Given the description of an element on the screen output the (x, y) to click on. 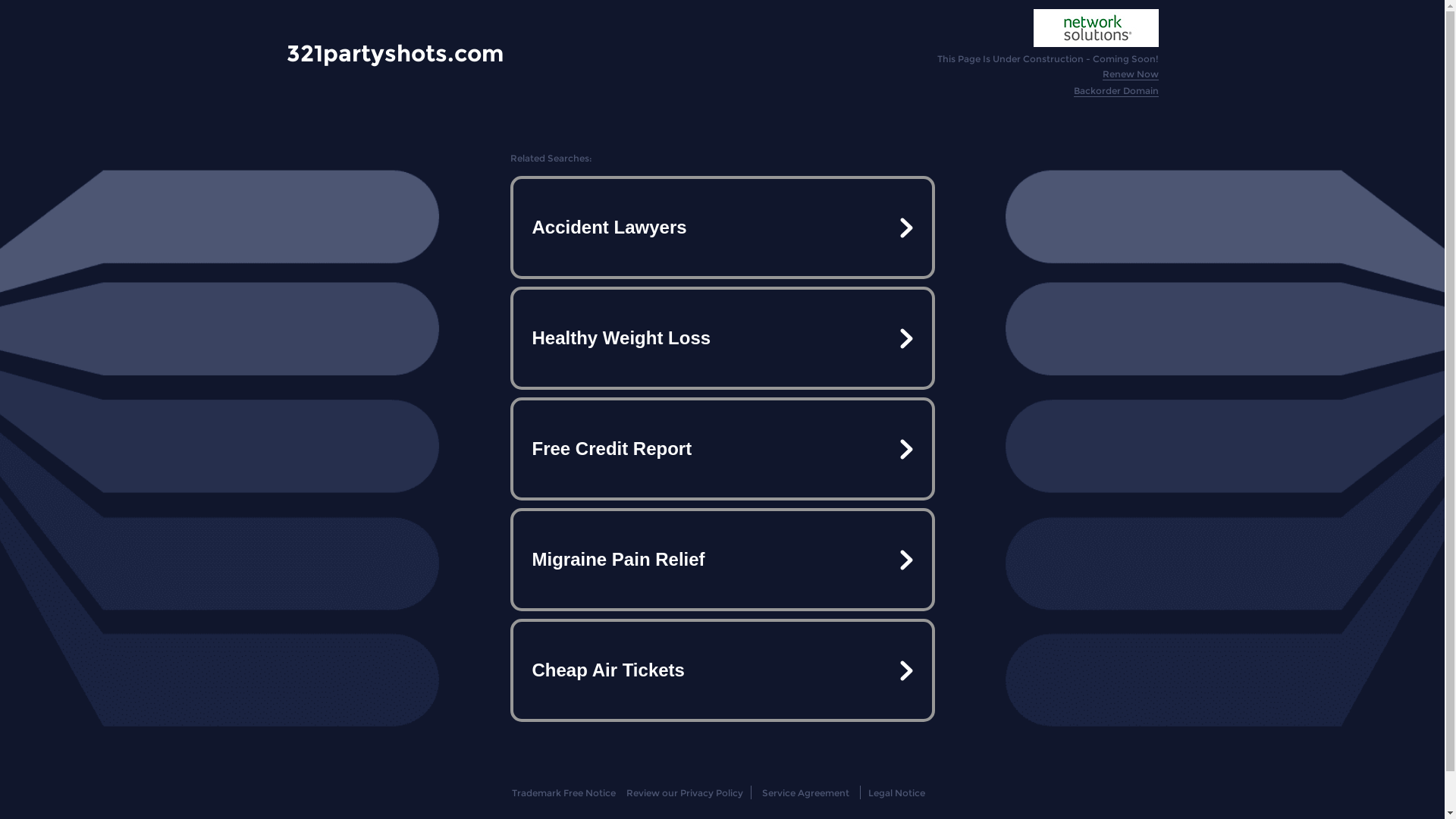
Review our Privacy Policy Element type: text (684, 792)
Healthy Weight Loss Element type: text (721, 337)
Migraine Pain Relief Element type: text (721, 559)
Backorder Domain Element type: text (1115, 90)
Renew Now Element type: text (1130, 74)
Cheap Air Tickets Element type: text (721, 669)
Free Credit Report Element type: text (721, 448)
321partyshots.com Element type: text (394, 53)
Trademark Free Notice Element type: text (563, 792)
Service Agreement Element type: text (805, 792)
Accident Lawyers Element type: text (721, 227)
Legal Notice Element type: text (896, 792)
